Given the description of an element on the screen output the (x, y) to click on. 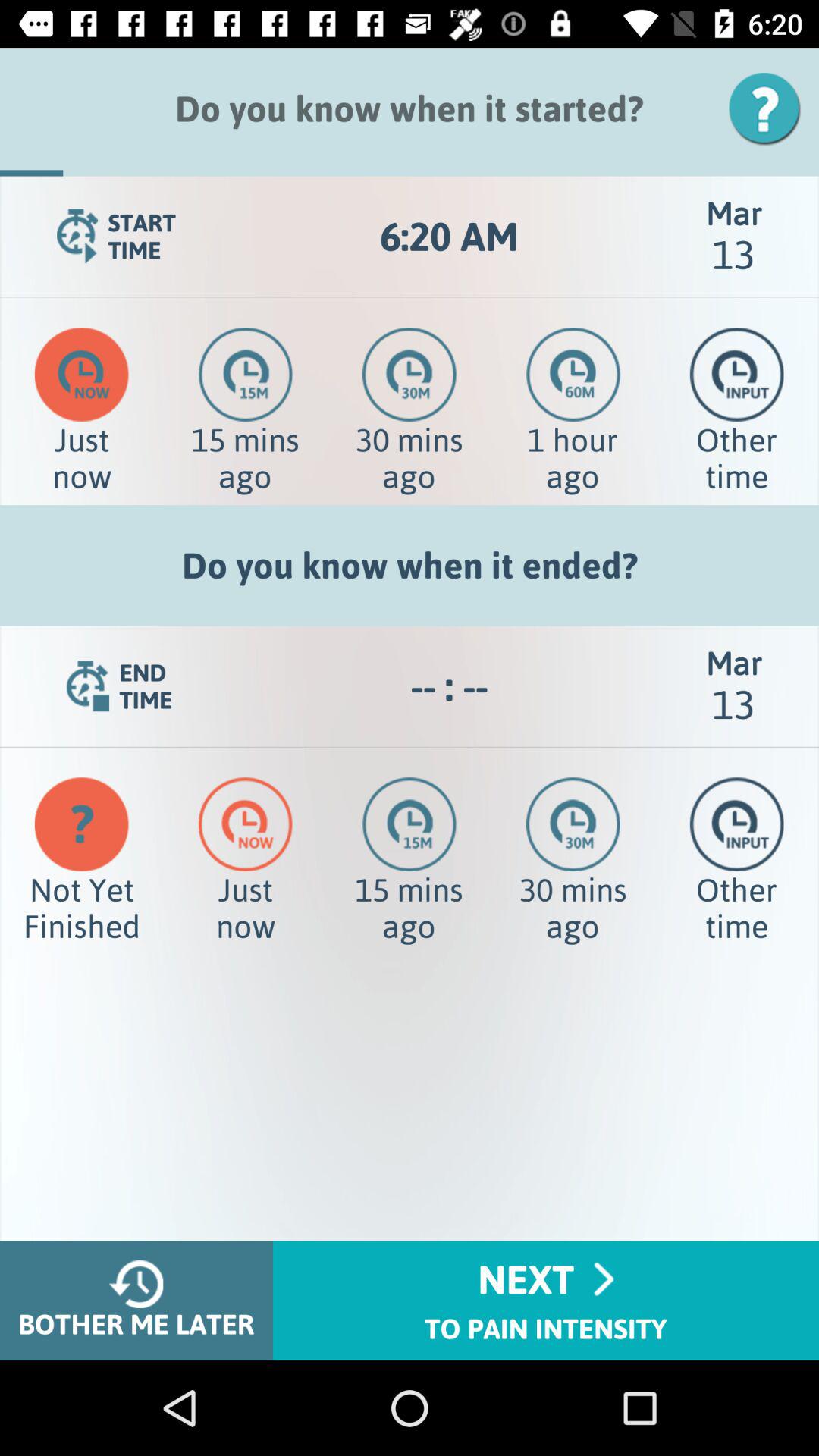
turn on app next to the mar
13 app (448, 686)
